Given the description of an element on the screen output the (x, y) to click on. 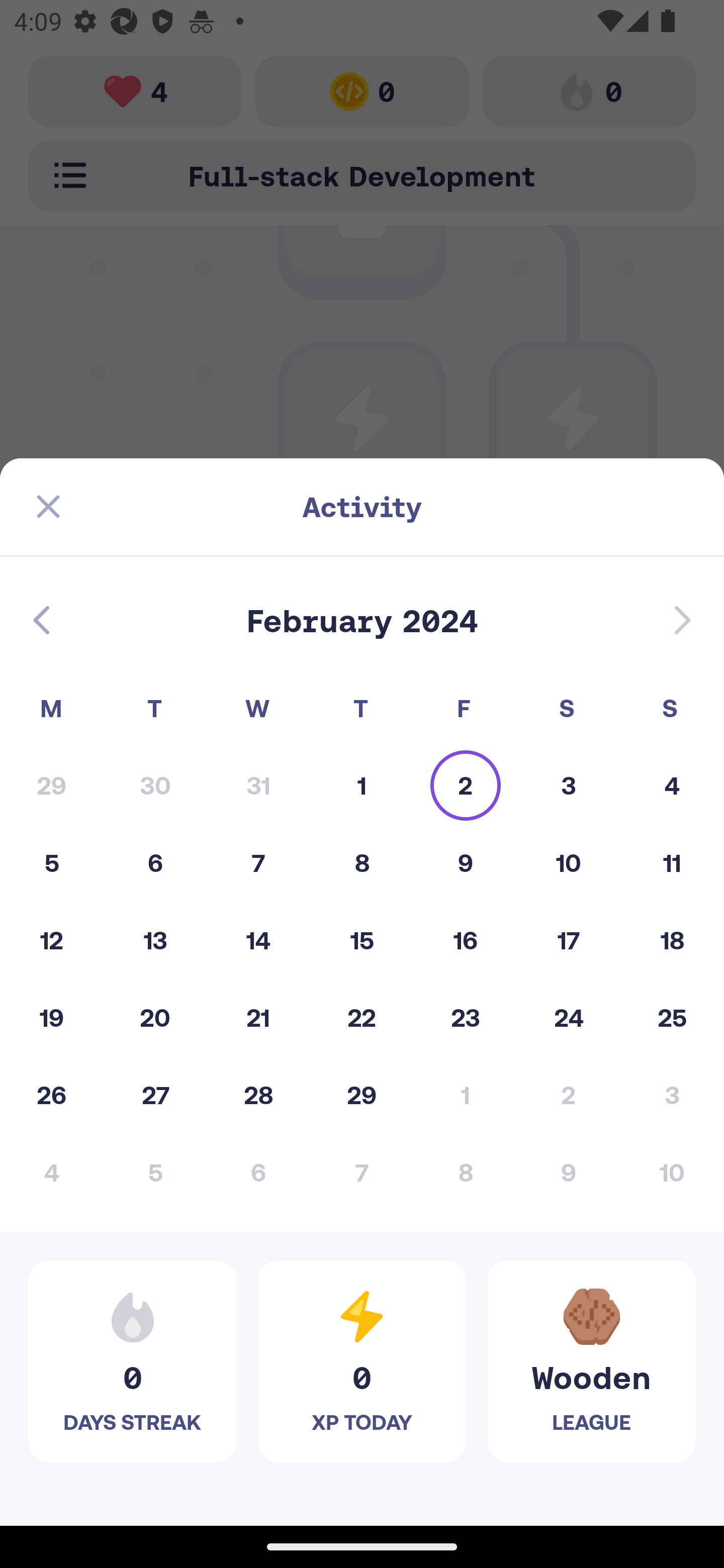
Close (47, 506)
